Given the description of an element on the screen output the (x, y) to click on. 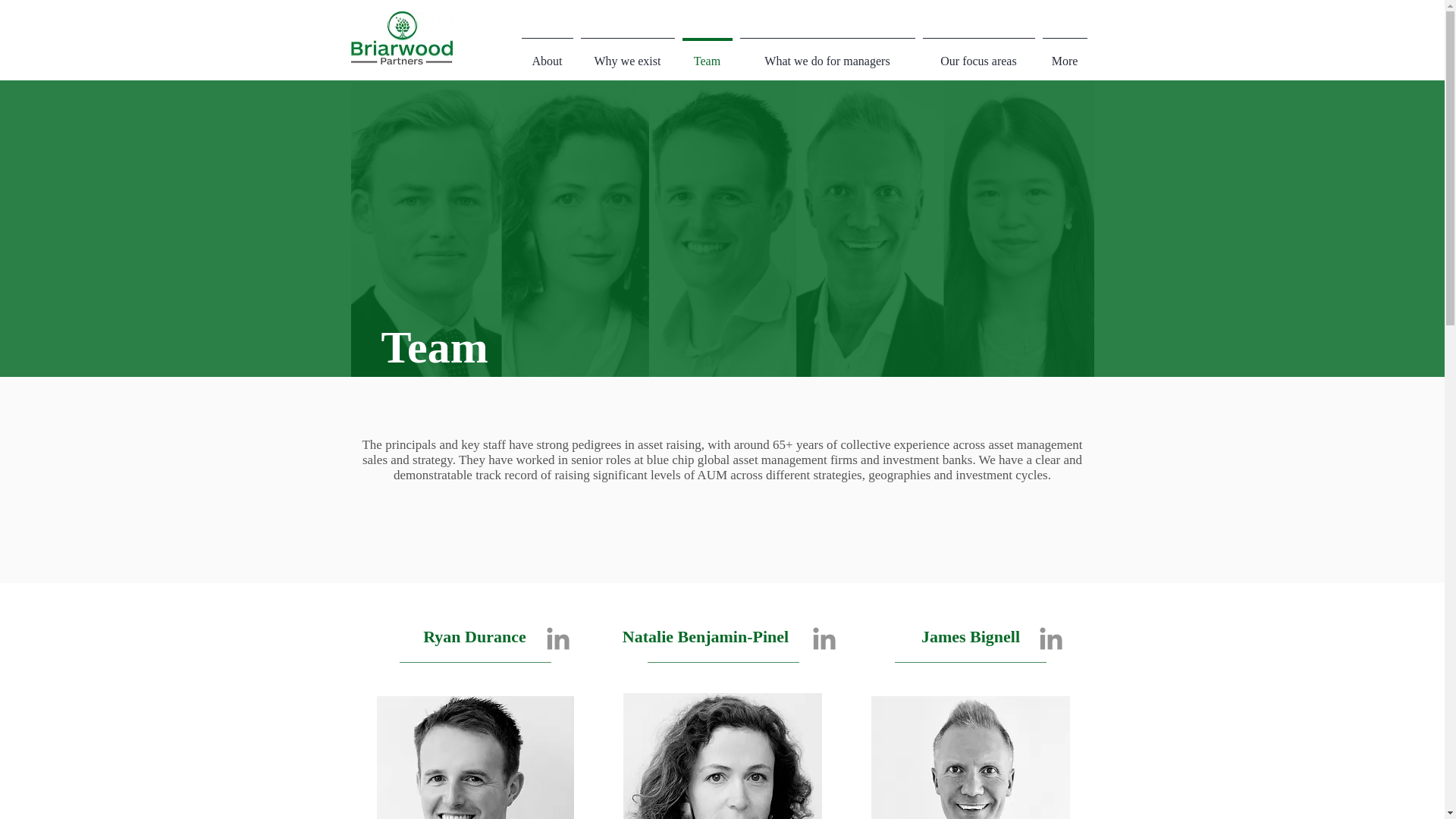
Team (706, 53)
Why we exist (627, 53)
About (546, 53)
What we do for managers (826, 53)
Our focus areas (978, 53)
